Given the description of an element on the screen output the (x, y) to click on. 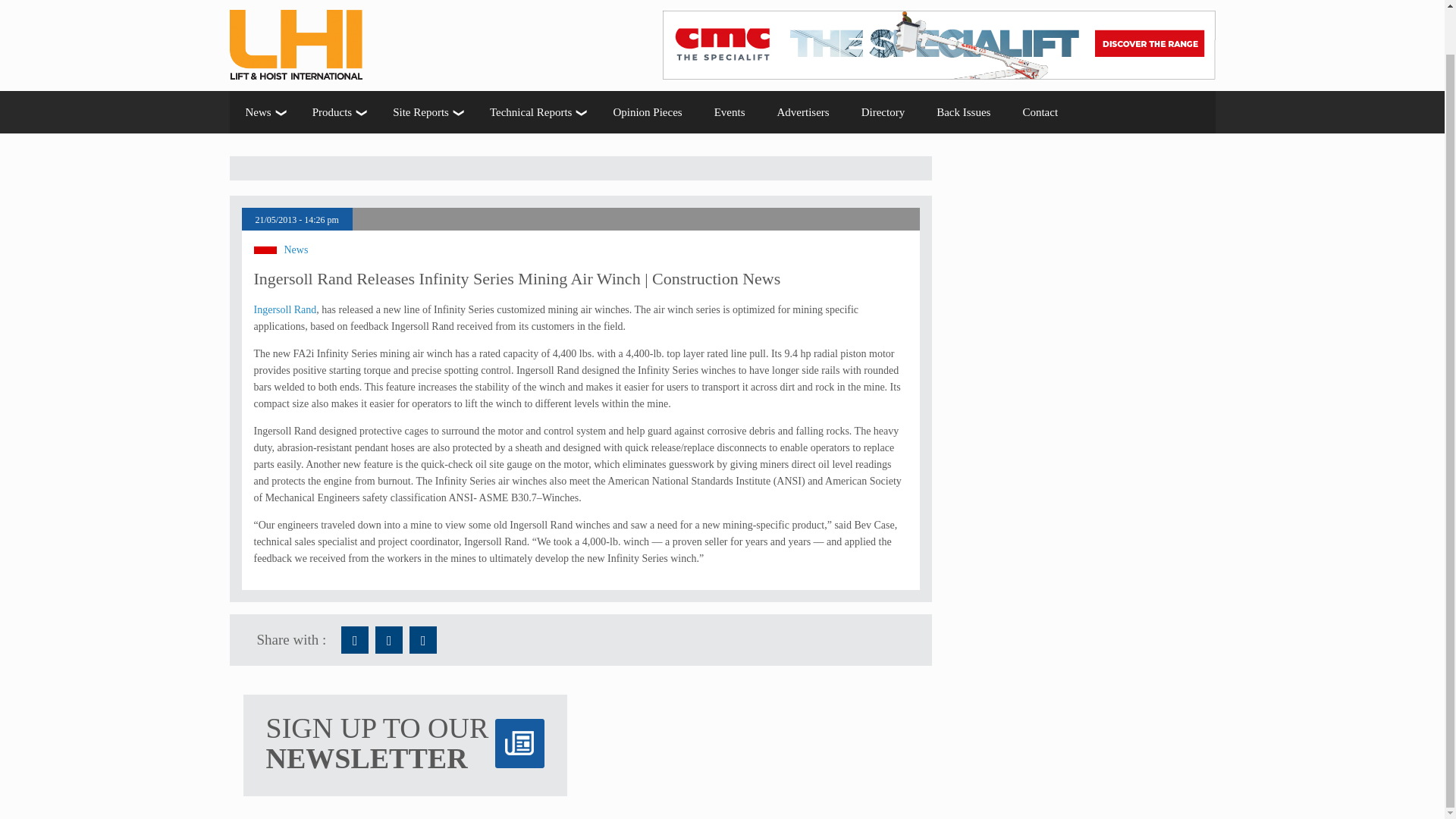
Products (337, 111)
News (261, 111)
Lift and Hoist Australia  LinkedIn (422, 639)
Site Reports (425, 111)
Lift and Hoist Australia  Facebook (354, 639)
